Given the description of an element on the screen output the (x, y) to click on. 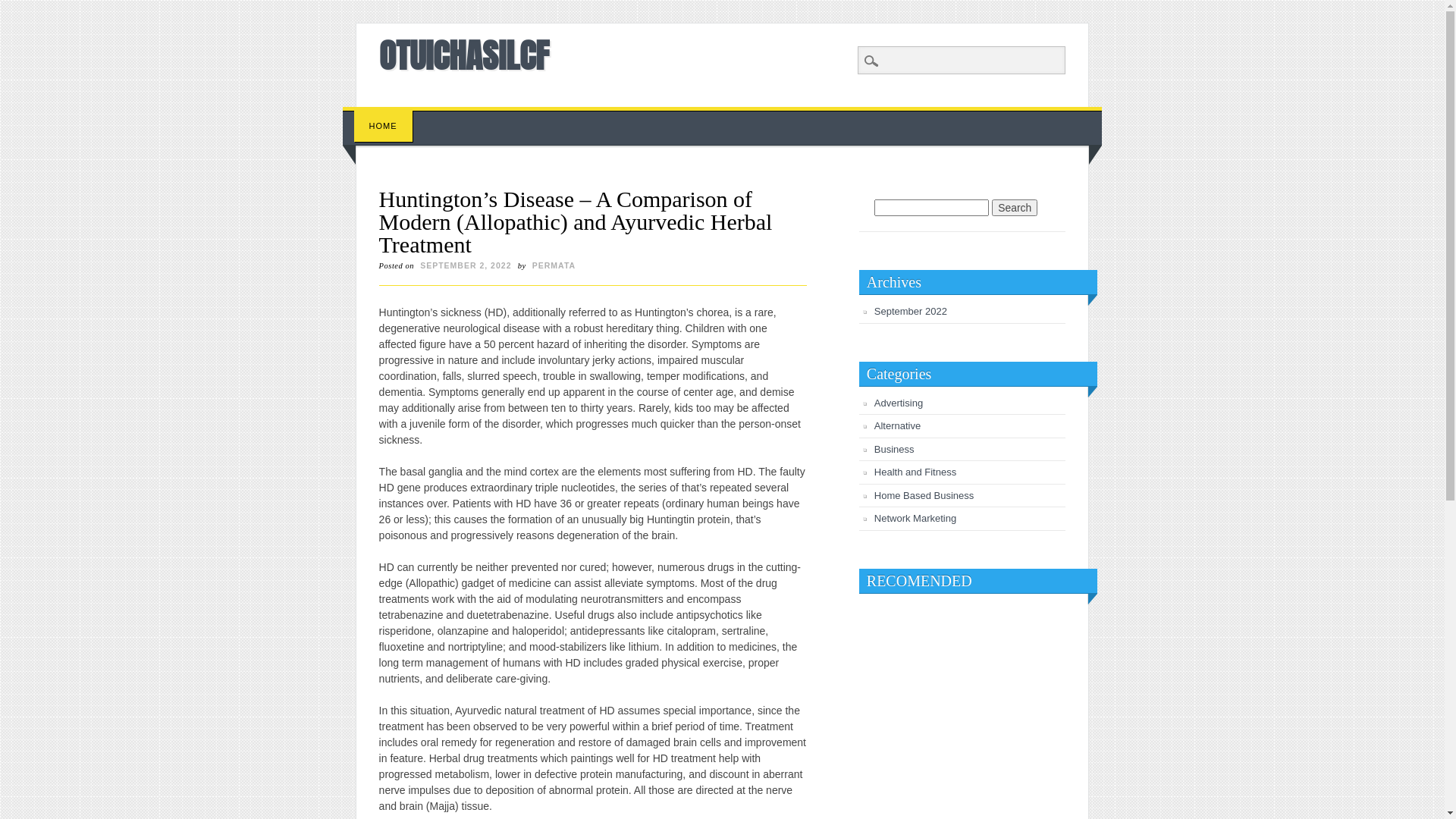
Business Element type: text (894, 449)
Search Element type: text (1014, 207)
Health and Fitness Element type: text (915, 471)
Network Marketing Element type: text (915, 518)
Home Based Business Element type: text (924, 495)
Alternative Element type: text (897, 425)
HOME Element type: text (383, 125)
September 2022 Element type: text (910, 310)
SEPTEMBER 2, 2022 Element type: text (465, 264)
OTUICHASILCF Element type: text (464, 55)
Skip to content Element type: text (377, 114)
Search Element type: text (22, 8)
PERMATA Element type: text (553, 264)
Advertising Element type: text (898, 402)
